Given the description of an element on the screen output the (x, y) to click on. 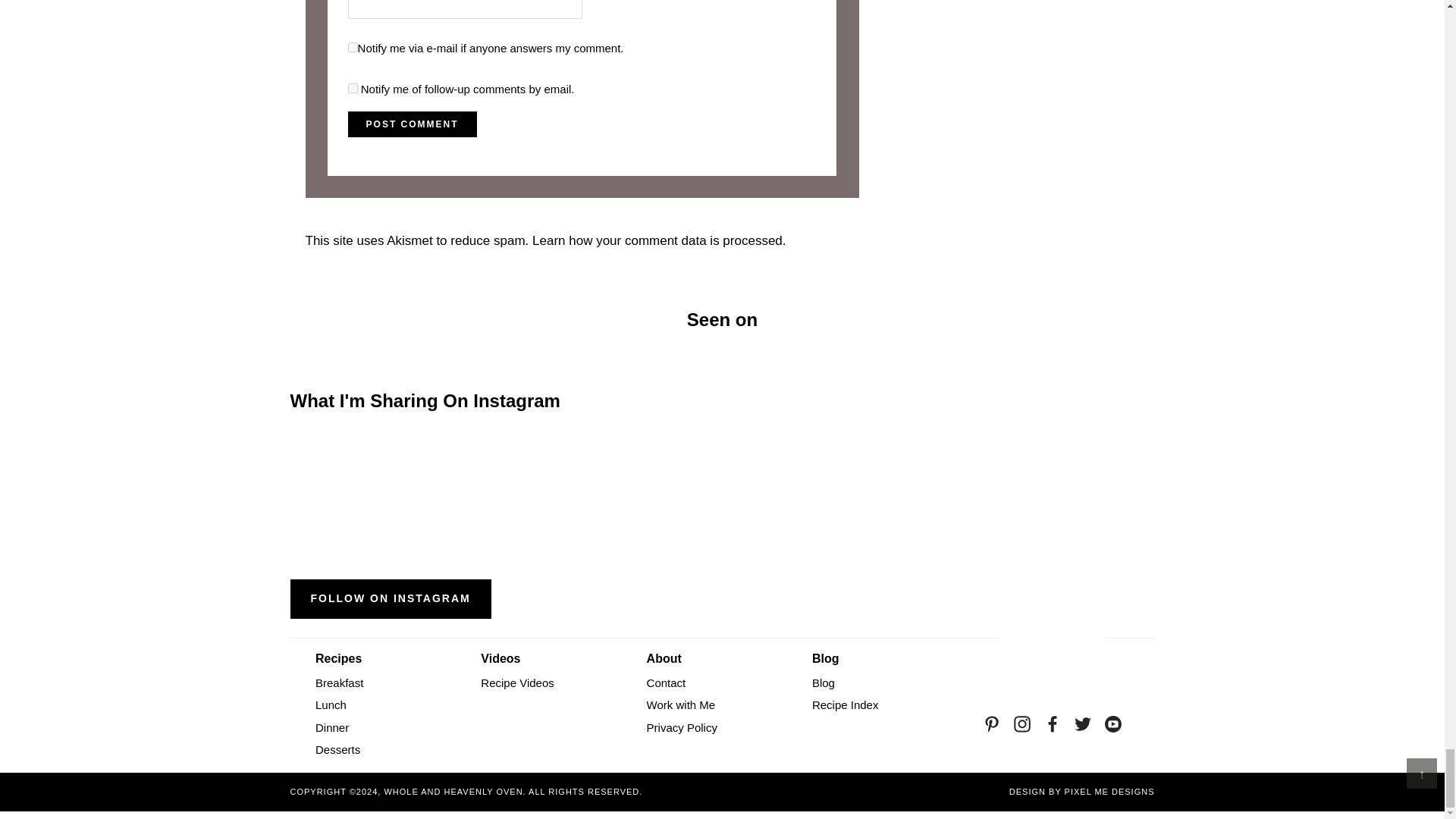
Post Comment (412, 124)
subscribe (352, 88)
on (352, 47)
